Given the description of an element on the screen output the (x, y) to click on. 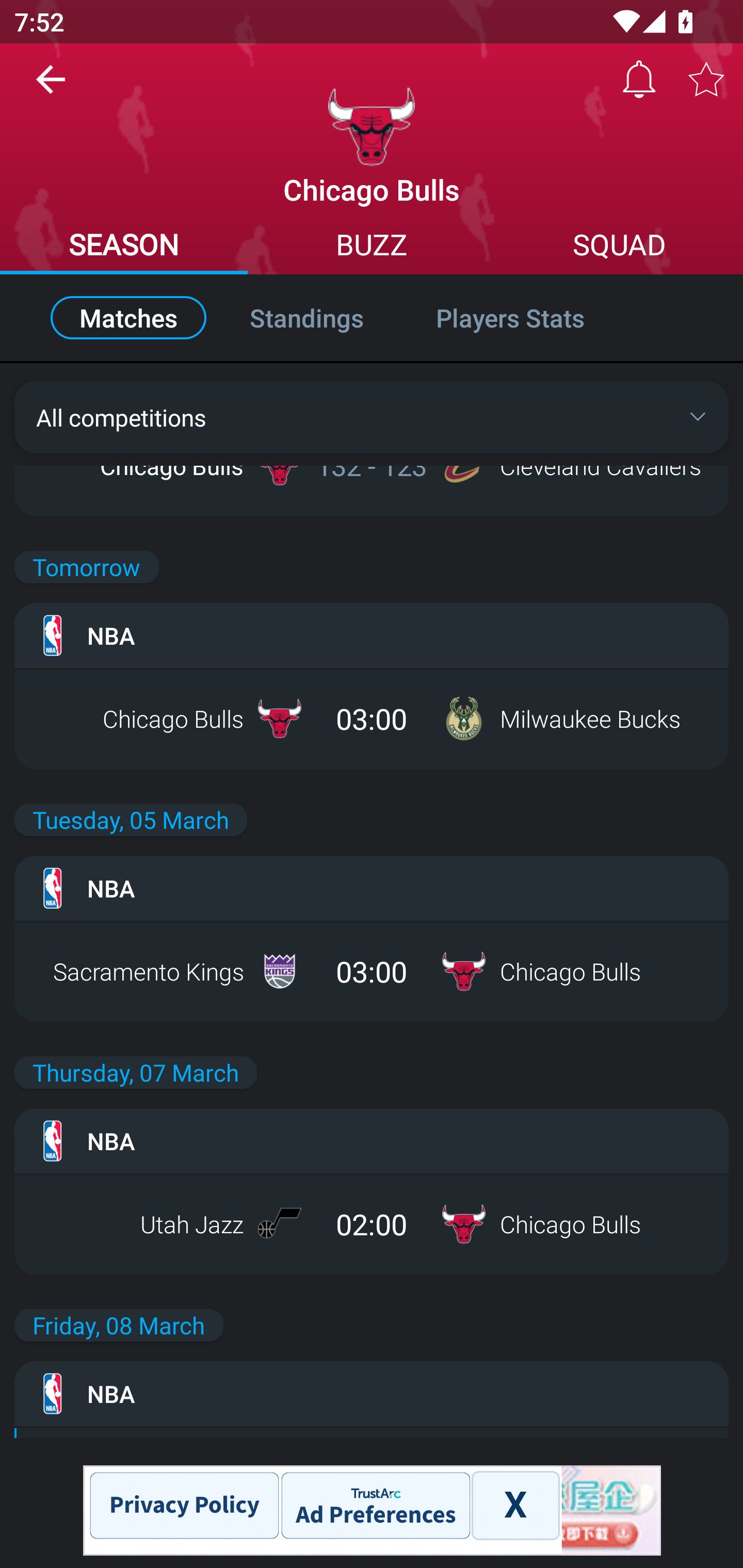
Navigate up (50, 86)
SEASON (123, 246)
BUZZ (371, 246)
SQUAD (619, 246)
Standings (306, 317)
Players Stats (531, 317)
All competitions (371, 417)
NBA (371, 635)
Chicago Bulls 03:00 Milwaukee Bucks (371, 717)
NBA (371, 888)
Sacramento Kings 03:00 Chicago Bulls (371, 971)
NBA (371, 1140)
Utah Jazz 02:00 Chicago Bulls (371, 1223)
NBA (371, 1393)
get?name=ta-btn-privacy (183, 1505)
get?name=btn-ad-preferences-2 (374, 1505)
X (515, 1505)
